Given the description of an element on the screen output the (x, y) to click on. 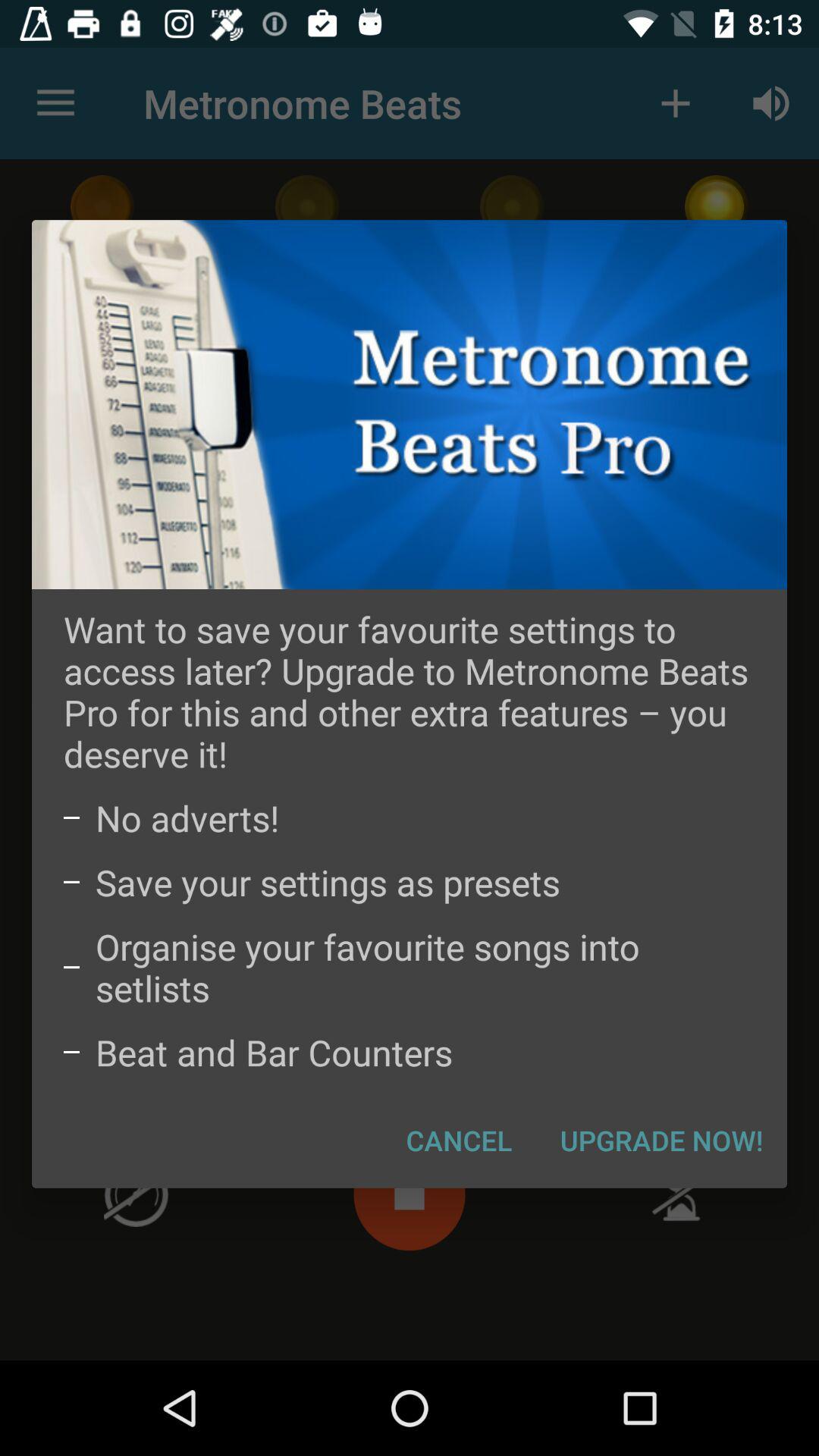
swipe to cancel icon (459, 1140)
